Given the description of an element on the screen output the (x, y) to click on. 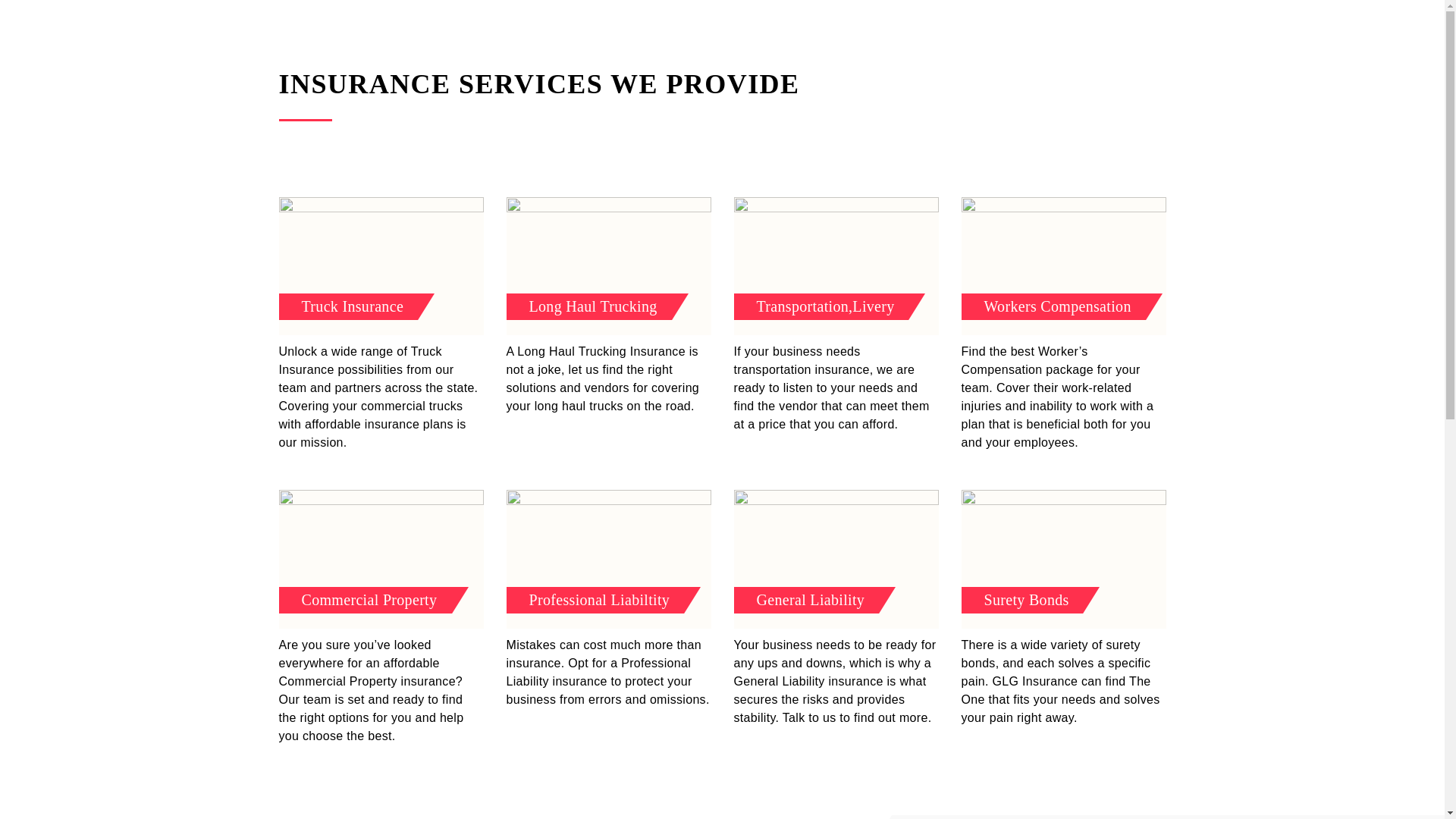
General Liability (836, 558)
Truck Insurance (381, 265)
Workers Compensation (1063, 265)
Commercial Property (381, 558)
Long Haul Trucking (608, 265)
Surety Bonds (1063, 558)
Transportation,Livery (836, 265)
Professional Liabiltity (608, 558)
